Given the description of an element on the screen output the (x, y) to click on. 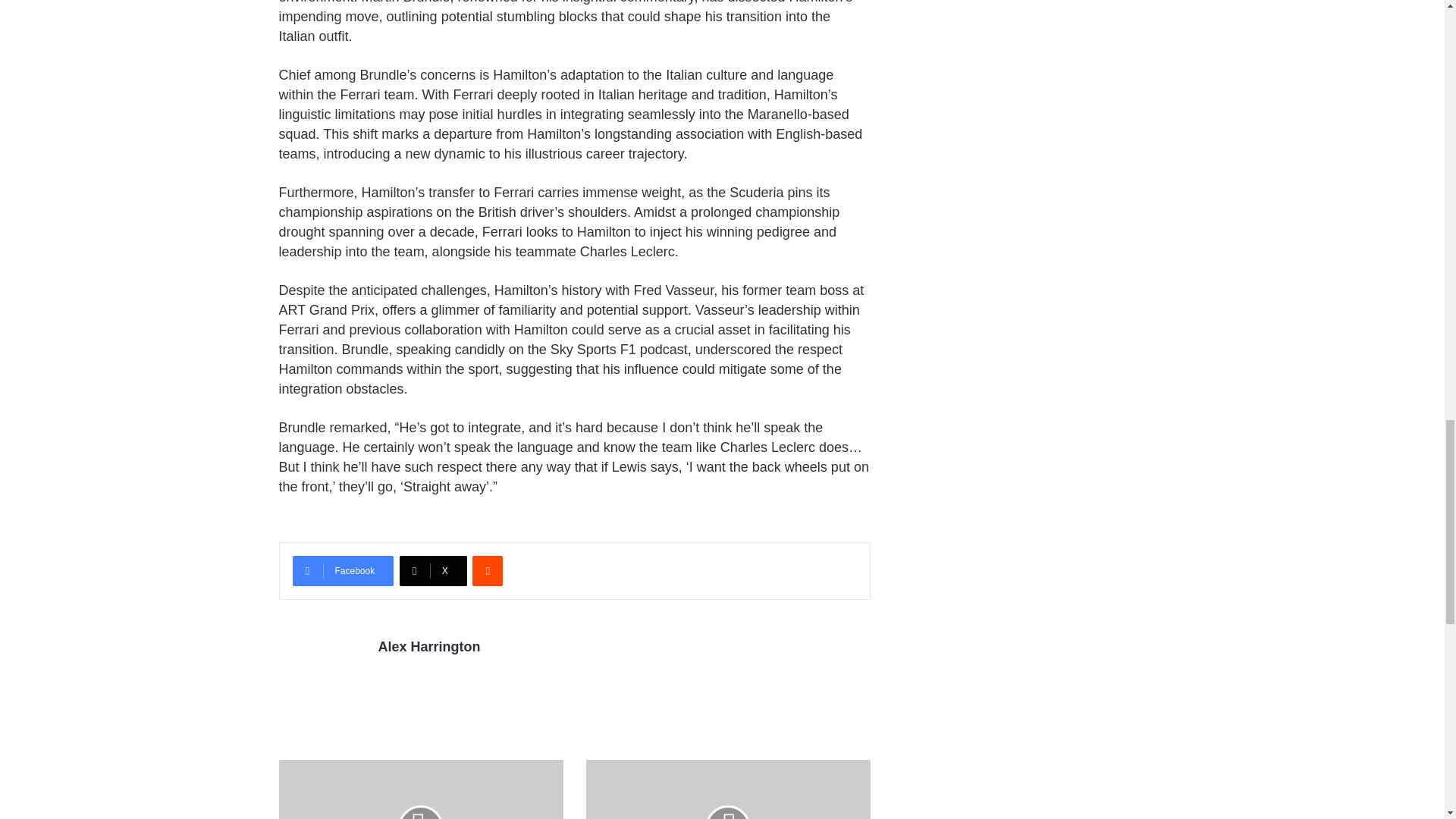
Reddit (486, 571)
Facebook (343, 571)
X (432, 571)
